Given the description of an element on the screen output the (x, y) to click on. 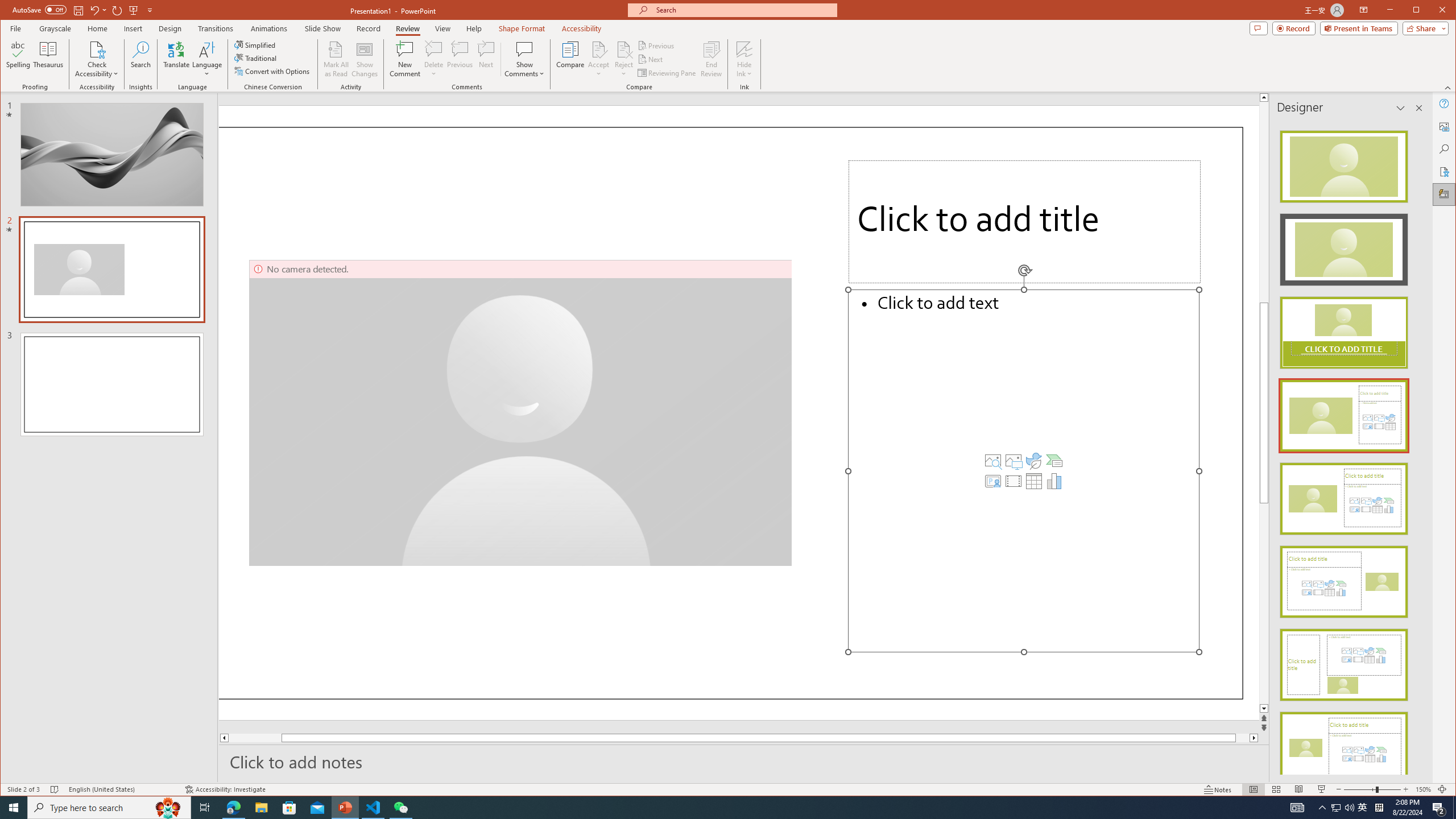
Insert Cameo (992, 480)
Mark All as Read (335, 59)
Recommended Design: Design Idea (1343, 163)
Language (207, 59)
